Given the description of an element on the screen output the (x, y) to click on. 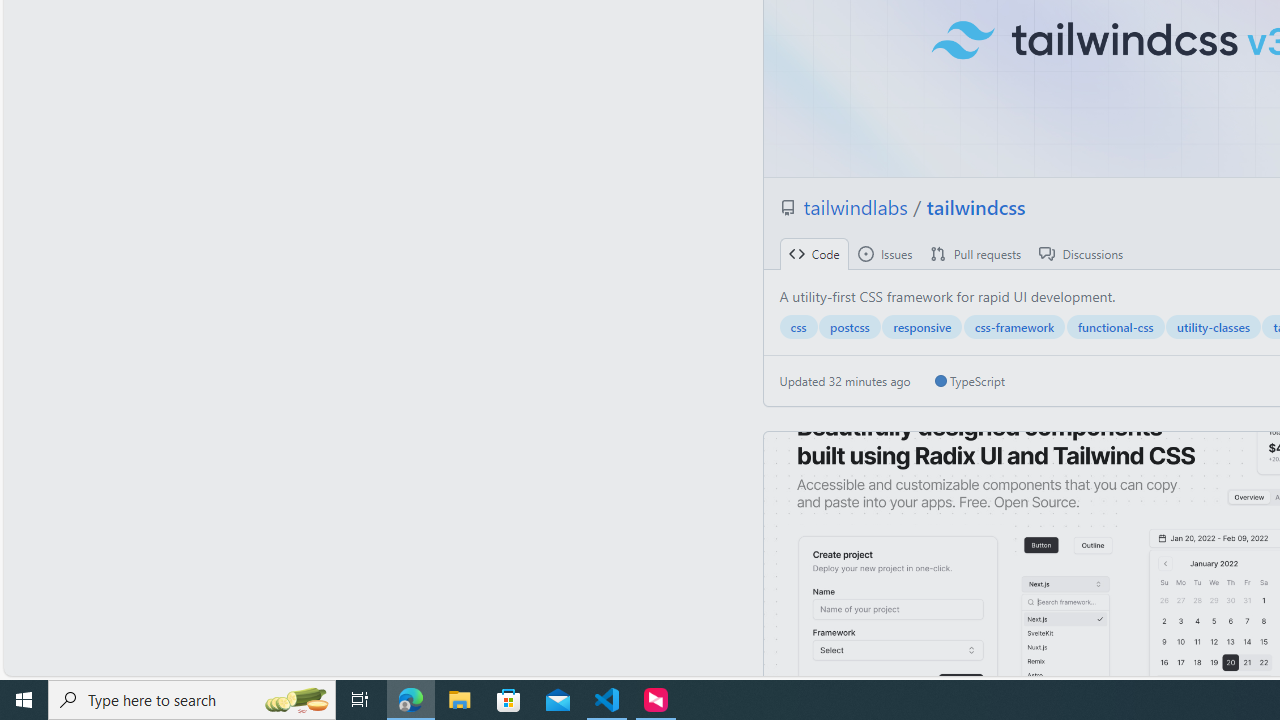
 Discussions (1081, 254)
Updated 32 minutes ago (845, 381)
tailwindlabs  (857, 206)
